Given the description of an element on the screen output the (x, y) to click on. 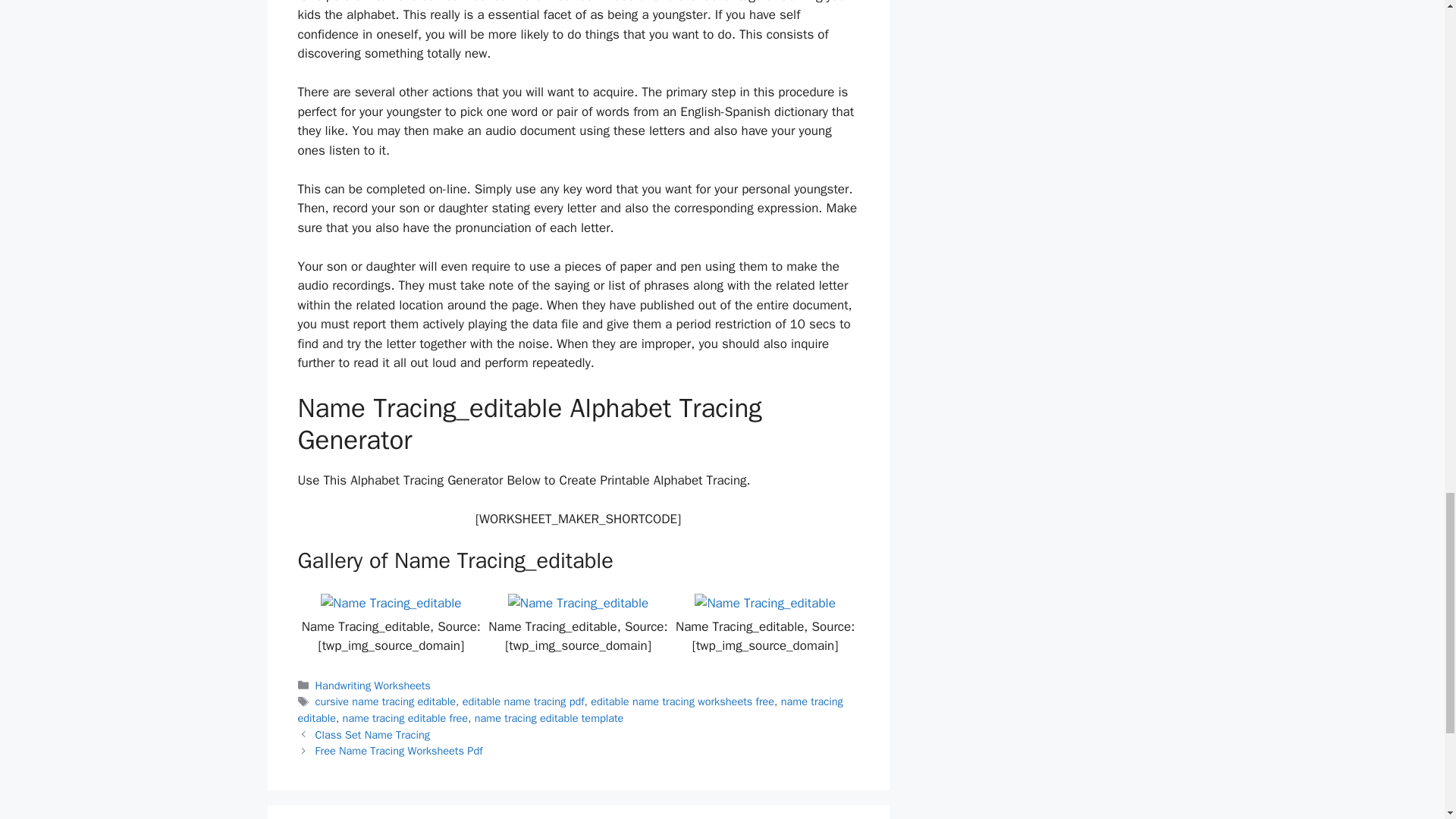
cursive name tracing editable (385, 701)
Handwriting Worksheets (372, 685)
name tracing editable (570, 709)
editable name tracing pdf (524, 701)
editable name tracing worksheets free (682, 701)
name tracing editable template (549, 717)
name tracing editable free (404, 717)
Free Name Tracing Worksheets Pdf (399, 750)
Class Set Name Tracing (372, 735)
